Given the description of an element on the screen output the (x, y) to click on. 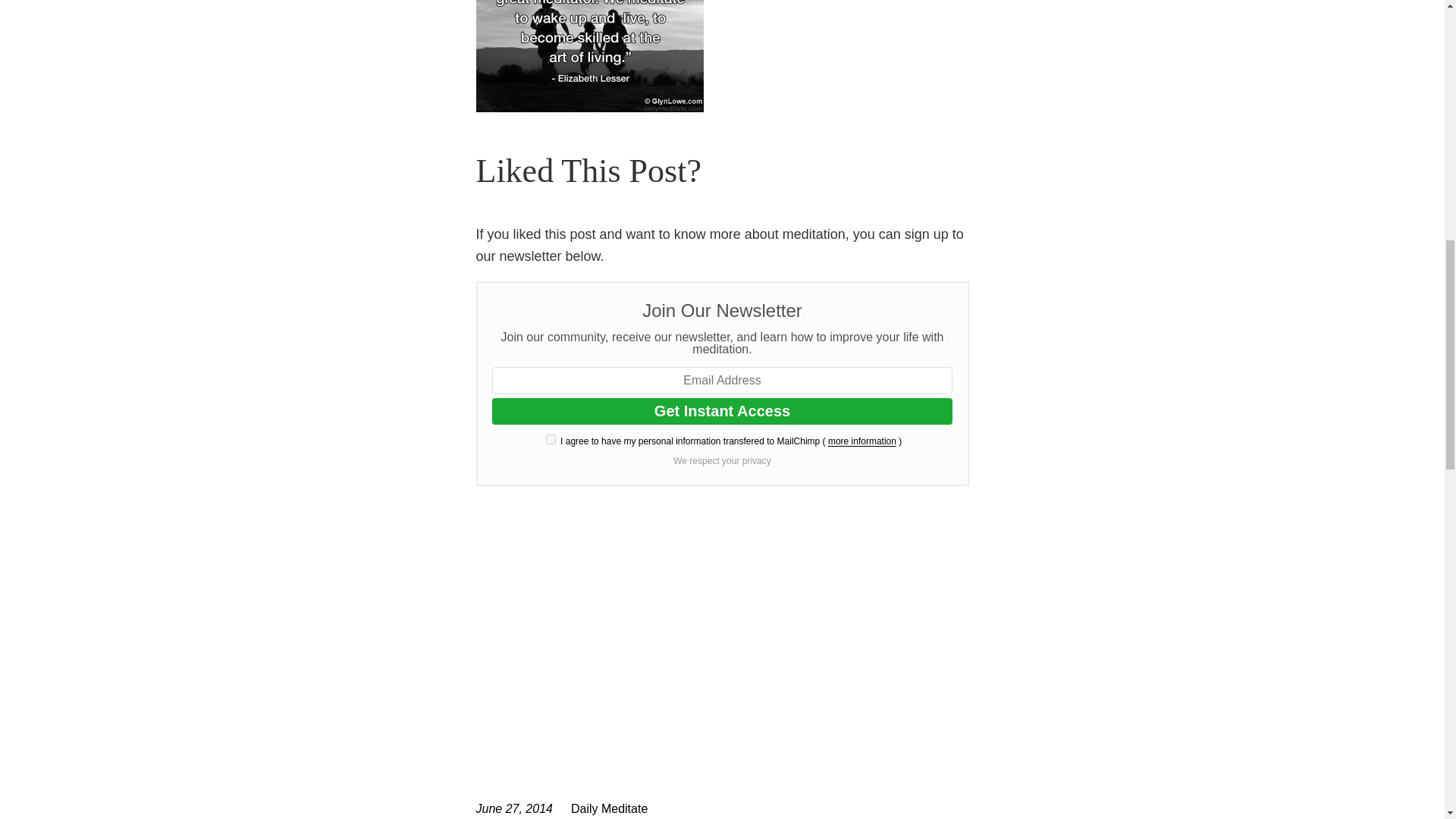
Get Instant Access (722, 411)
more information (862, 440)
on (551, 439)
Get Instant Access (722, 411)
